Given the description of an element on the screen output the (x, y) to click on. 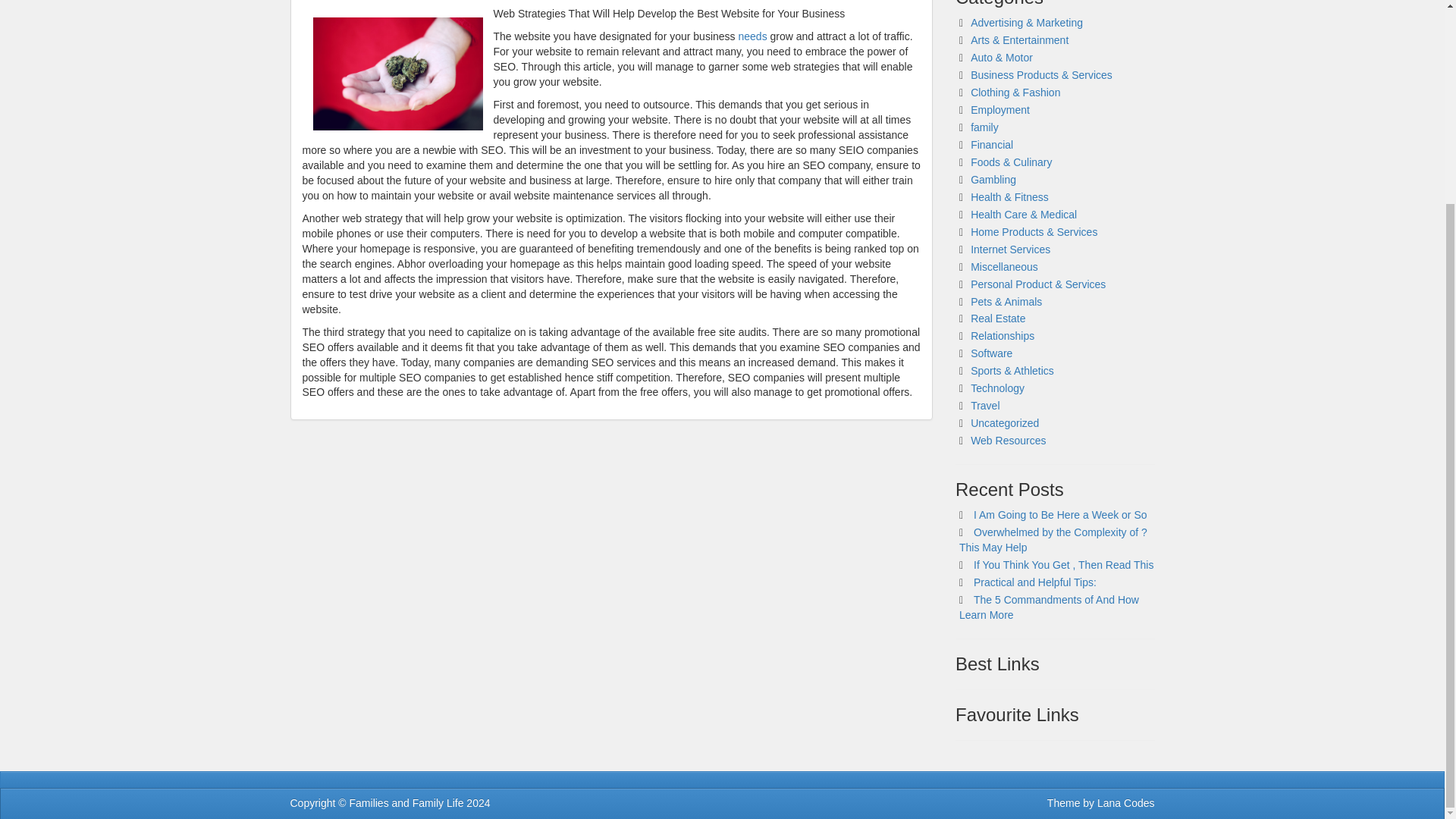
Software (991, 353)
Employment (1000, 110)
Financial (992, 144)
needs (752, 36)
The 5 Commandments of And How Learn More (1048, 606)
Gambling (993, 179)
I Am Going to Be Here a Week or So (1060, 514)
Practical and Helpful Tips: (1035, 582)
Uncategorized (1005, 422)
Real Estate (998, 318)
